Given the description of an element on the screen output the (x, y) to click on. 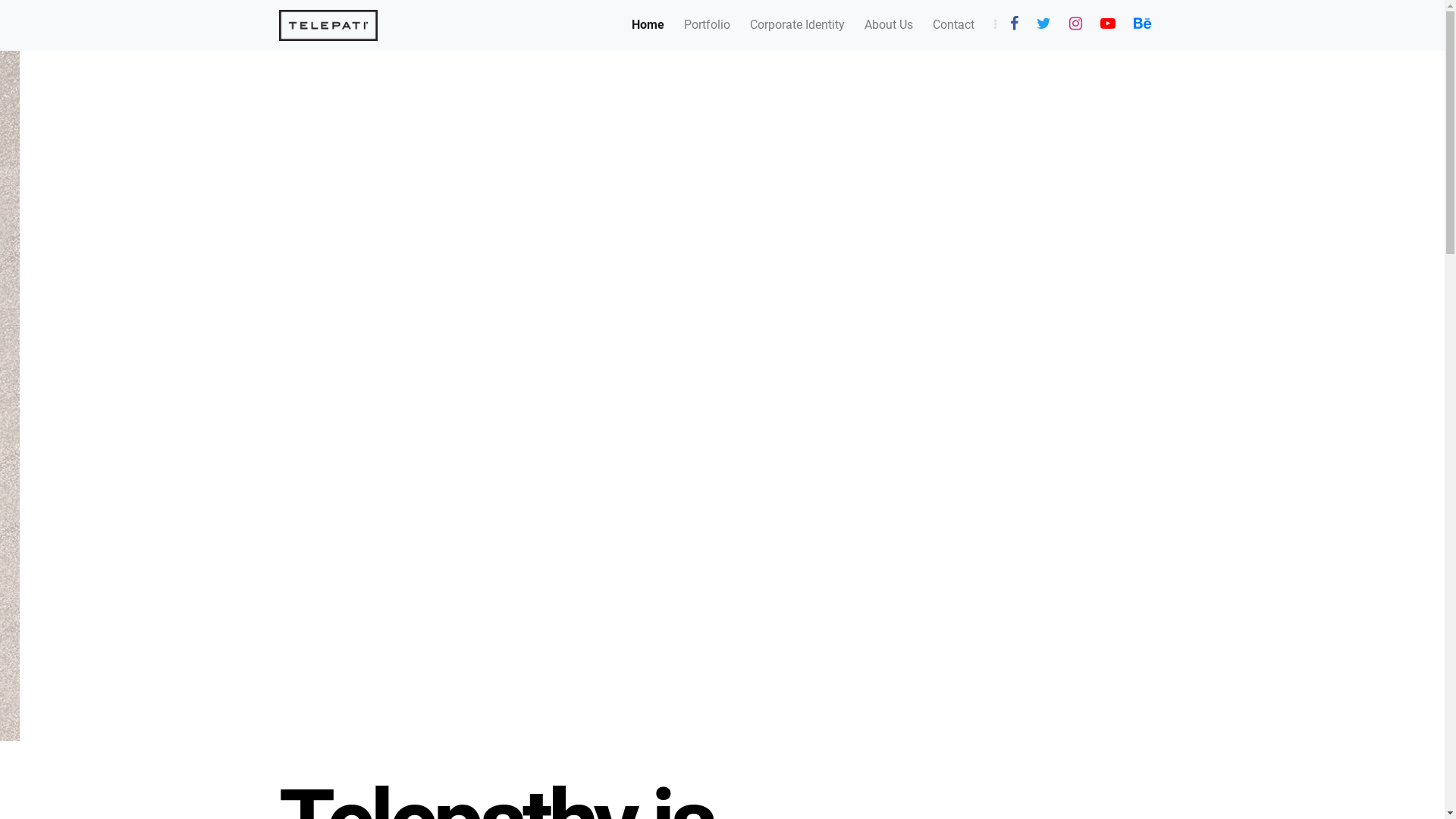
Home Element type: text (646, 24)
Previous Element type: text (108, 395)
Portfolio Element type: text (706, 24)
Contact Element type: text (953, 24)
Next Element type: text (1335, 395)
Corporate Identity Element type: text (796, 24)
About Us Element type: text (888, 24)
